Given the description of an element on the screen output the (x, y) to click on. 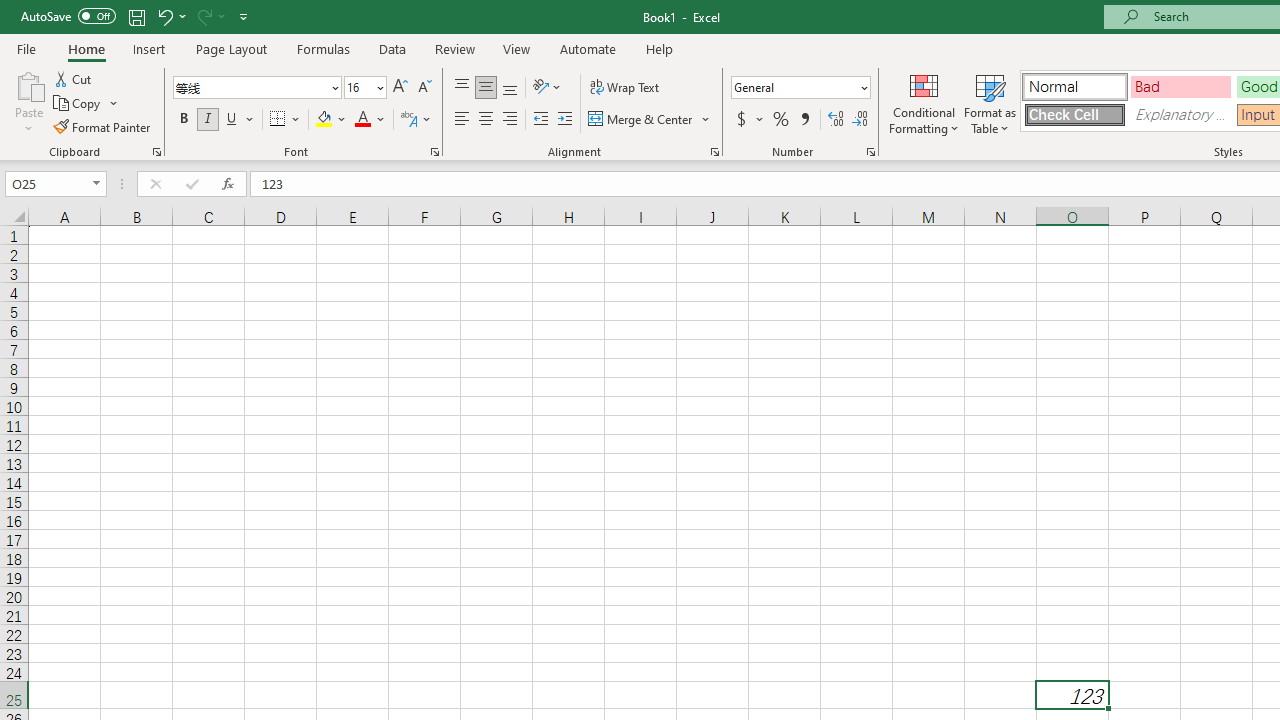
Decrease Decimal (859, 119)
View (517, 48)
Quick Access Toolbar (136, 16)
Decrease Indent (540, 119)
Show Phonetic Field (408, 119)
System (10, 11)
Help (660, 48)
Conditional Formatting (924, 102)
Redo (203, 15)
Data (392, 48)
Check Cell (1074, 114)
Font (250, 87)
Font Size (358, 87)
Font Color (370, 119)
Explanatory Text (1180, 114)
